Given the description of an element on the screen output the (x, y) to click on. 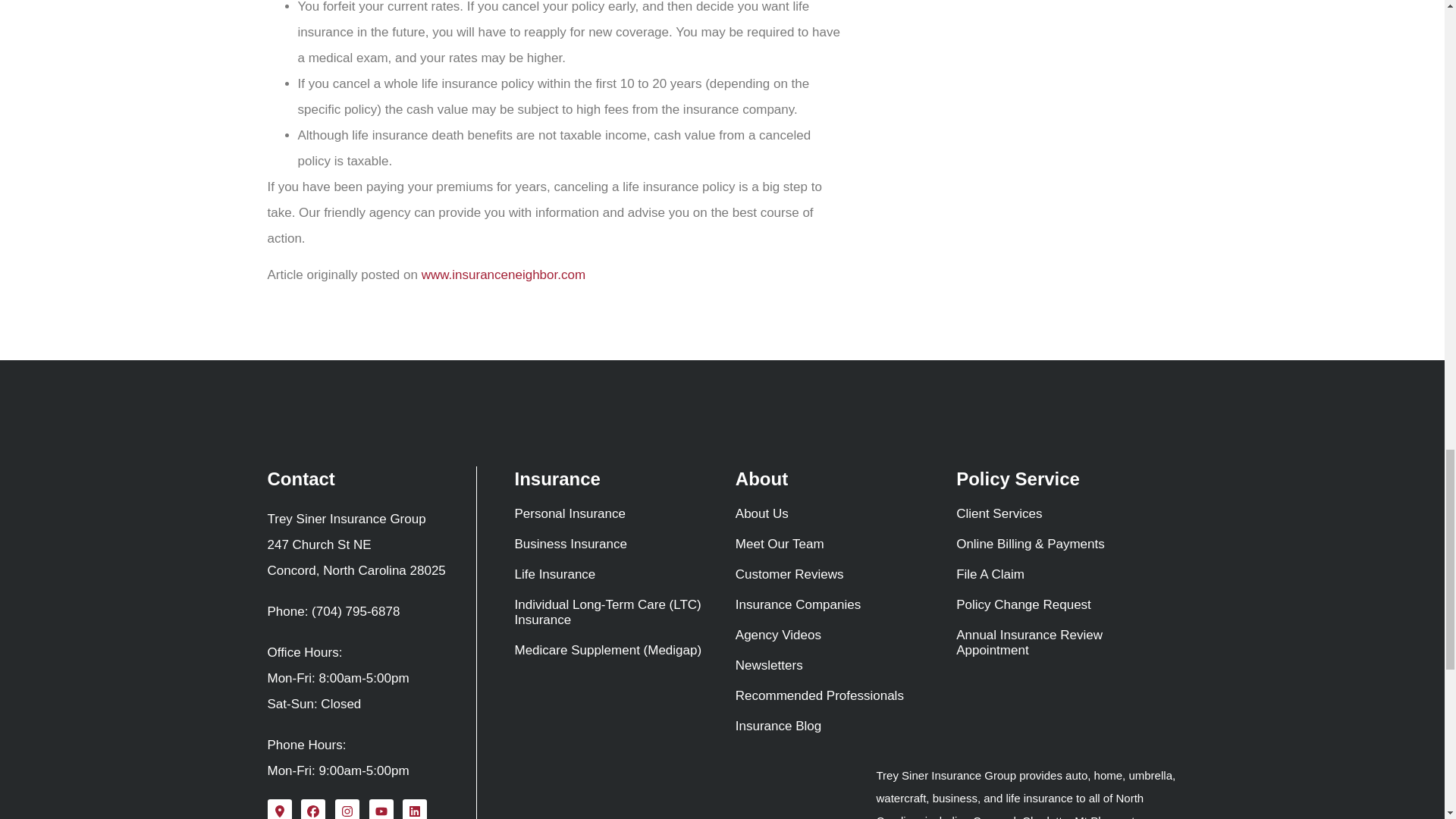
states-served-map-3 (679, 791)
